Given the description of an element on the screen output the (x, y) to click on. 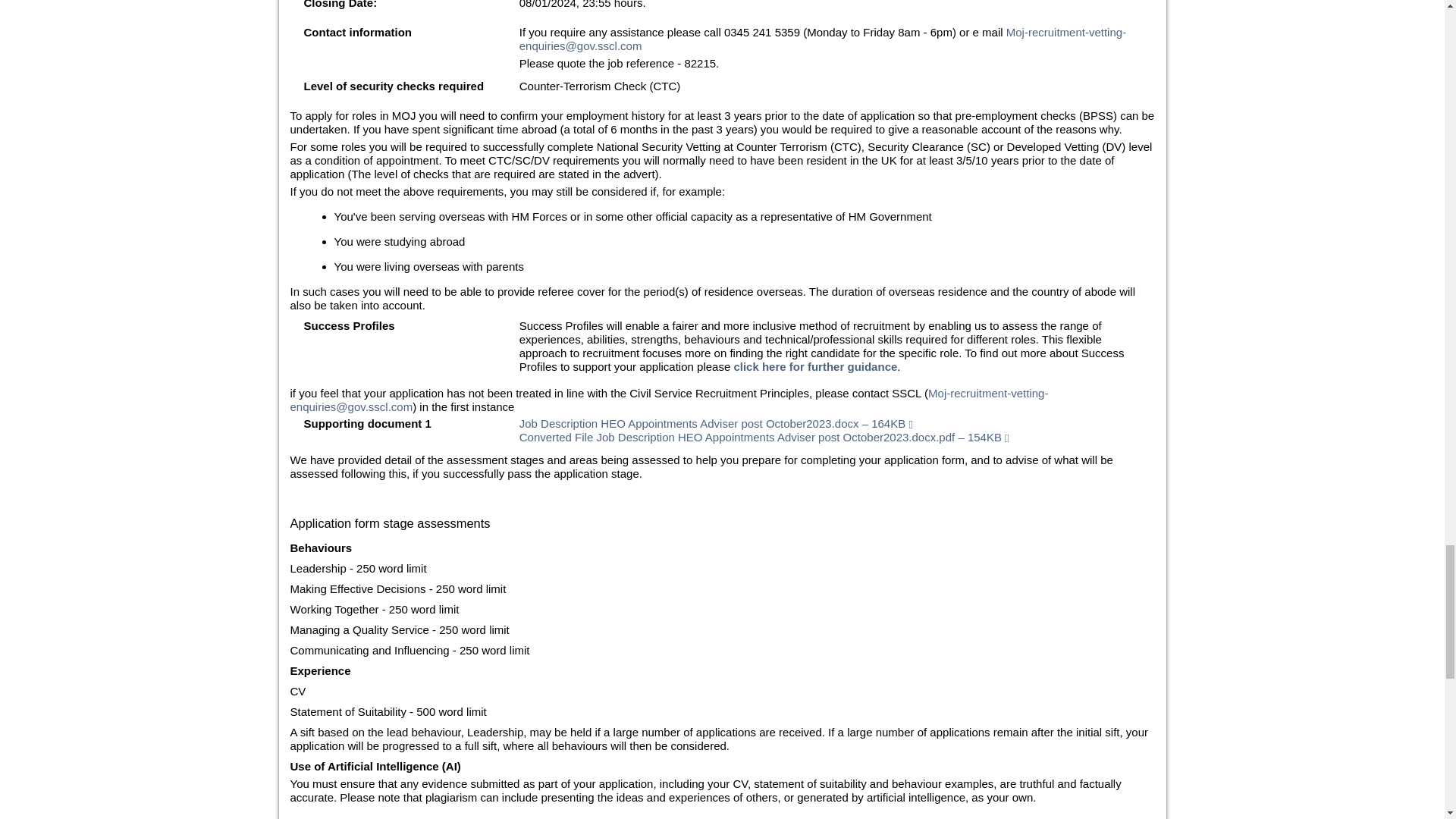
click here for further guidance (814, 366)
